Given the description of an element on the screen output the (x, y) to click on. 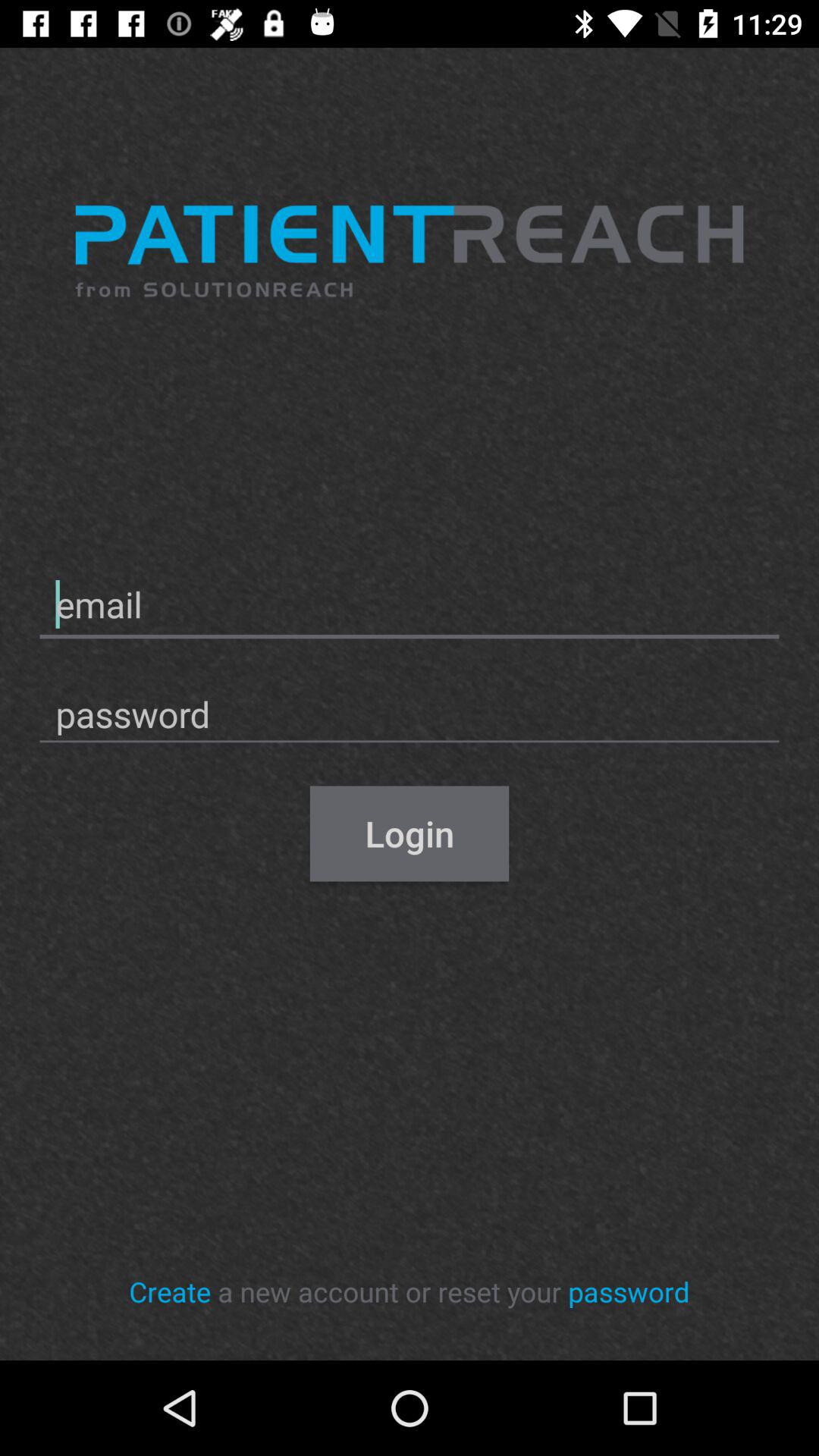
press the login icon (409, 833)
